Given the description of an element on the screen output the (x, y) to click on. 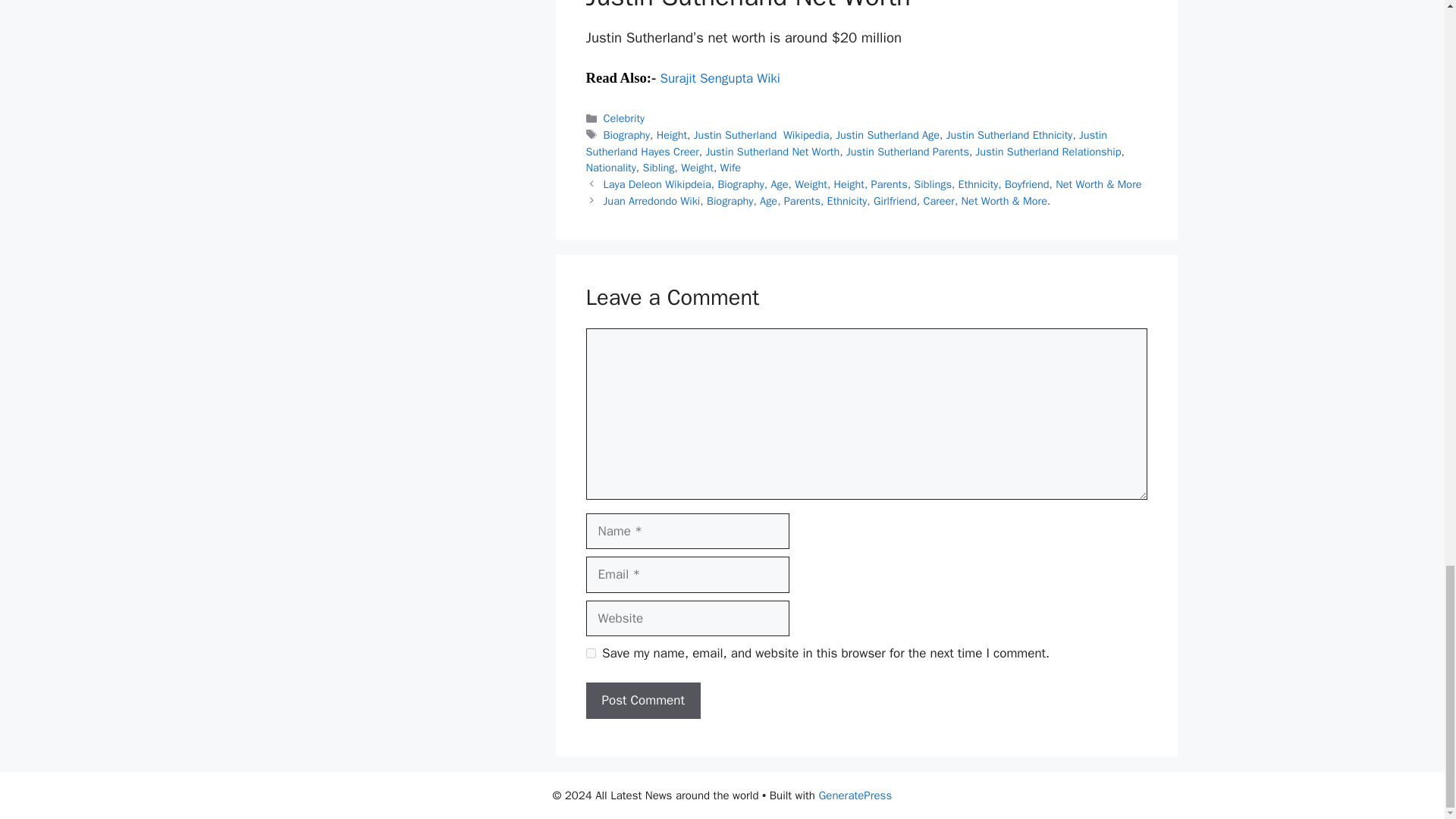
Weight (697, 167)
Biography (626, 134)
Justin Sutherland  Wikipedia (761, 134)
Nationality (609, 167)
Wife (730, 167)
Justin Sutherland Age (887, 134)
Justin Sutherland Hayes Creer (845, 142)
Justin Sutherland Relationship (1048, 151)
Justin Sutherland Net Worth (773, 151)
Justin Sutherland Parents (907, 151)
Post Comment (642, 700)
Post Comment (642, 700)
Sibling (658, 167)
Justin Sutherland Ethnicity (1009, 134)
Surajit Sengupta Wiki (719, 78)
